Given the description of an element on the screen output the (x, y) to click on. 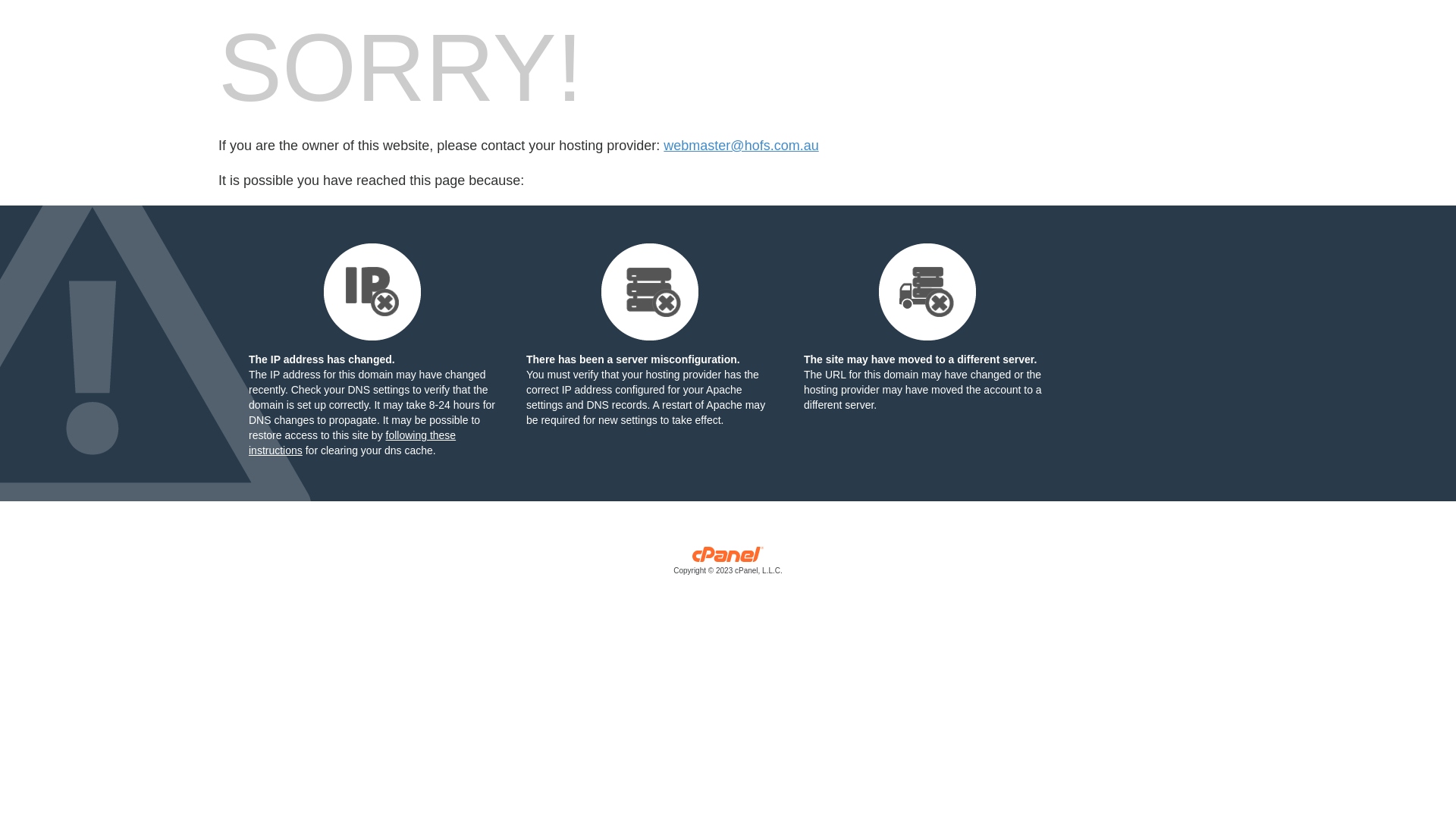
webmaster@hofs.com.au Element type: text (740, 145)
following these instructions Element type: text (351, 442)
